Given the description of an element on the screen output the (x, y) to click on. 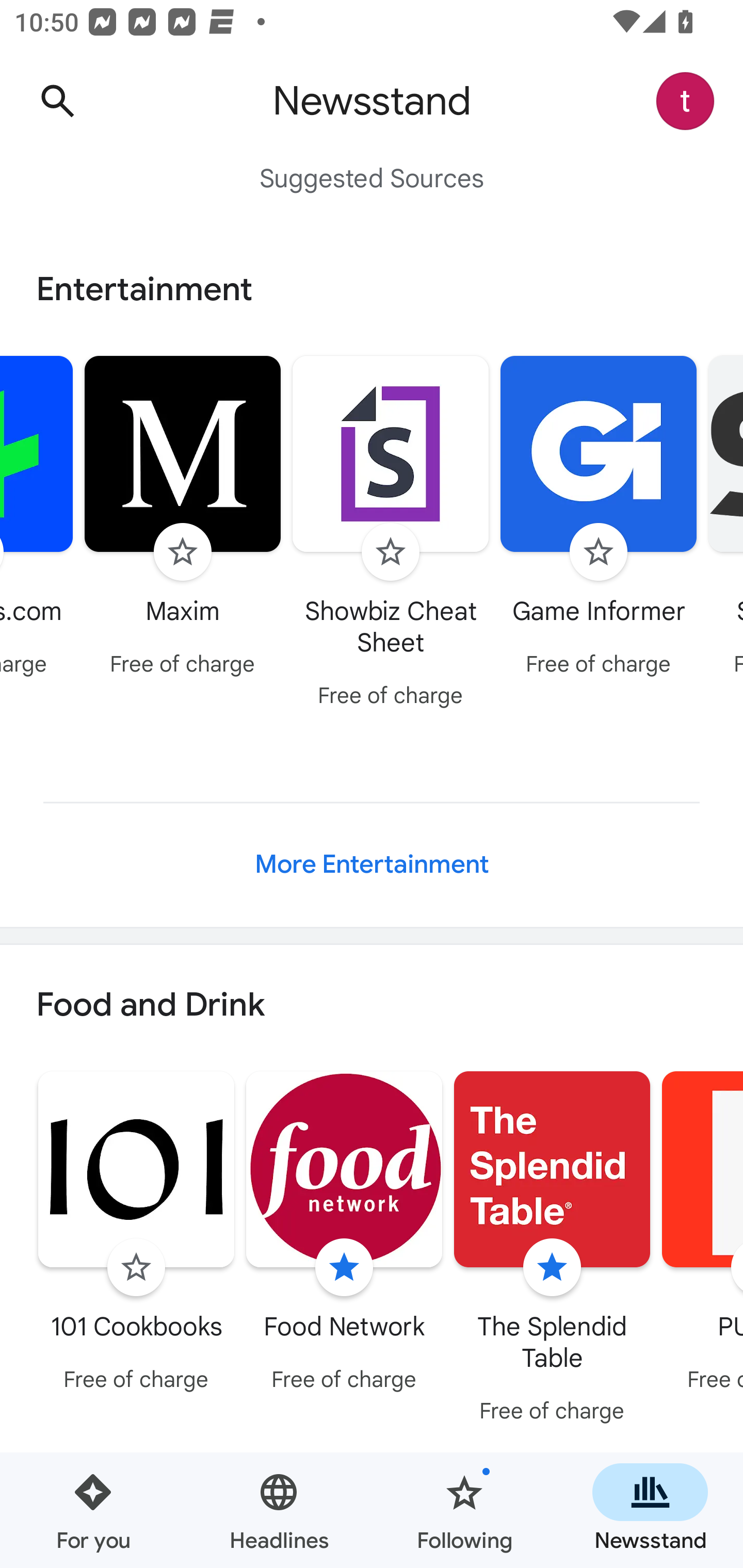
Search (57, 100)
Entertainment (371, 288)
Follow Maxim Free of charge (182, 517)
Follow Showbiz Cheat Sheet Free of charge (390, 534)
Follow Game Informer Free of charge (598, 517)
Follow (182, 551)
Follow (390, 551)
Follow (598, 551)
More Entertainment (371, 864)
Food and Drink (371, 1005)
Follow 101 Cookbooks Free of charge (136, 1234)
Unfollow Food Network Free of charge (344, 1234)
Unfollow The Splendid Table Free of charge (552, 1250)
Follow (135, 1267)
Unfollow (343, 1267)
Unfollow (552, 1267)
For you (92, 1509)
Headlines (278, 1509)
Following (464, 1509)
Newsstand (650, 1509)
